Given the description of an element on the screen output the (x, y) to click on. 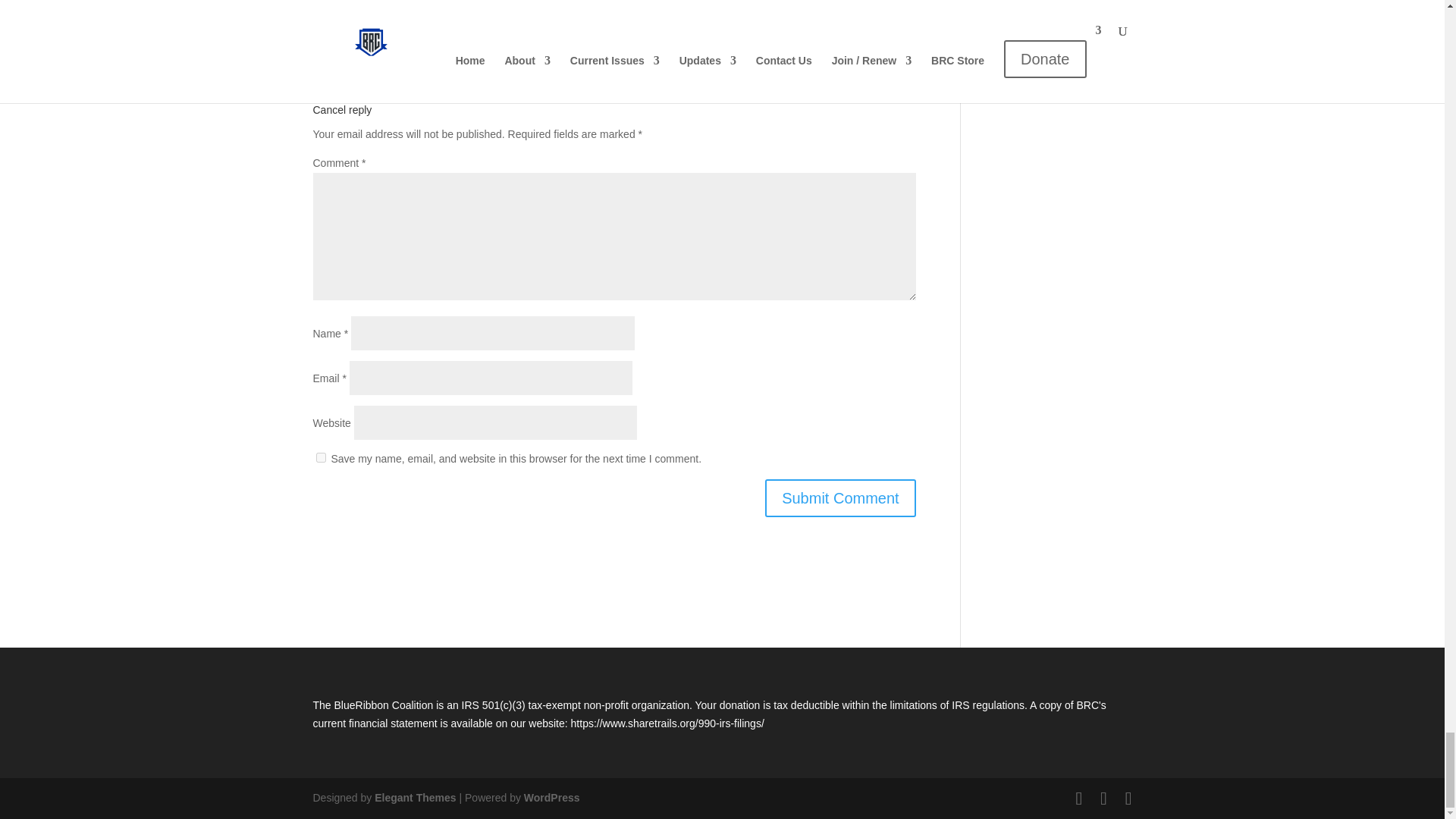
yes (319, 457)
Submit Comment (840, 497)
Premium WordPress Themes (414, 797)
